Given the description of an element on the screen output the (x, y) to click on. 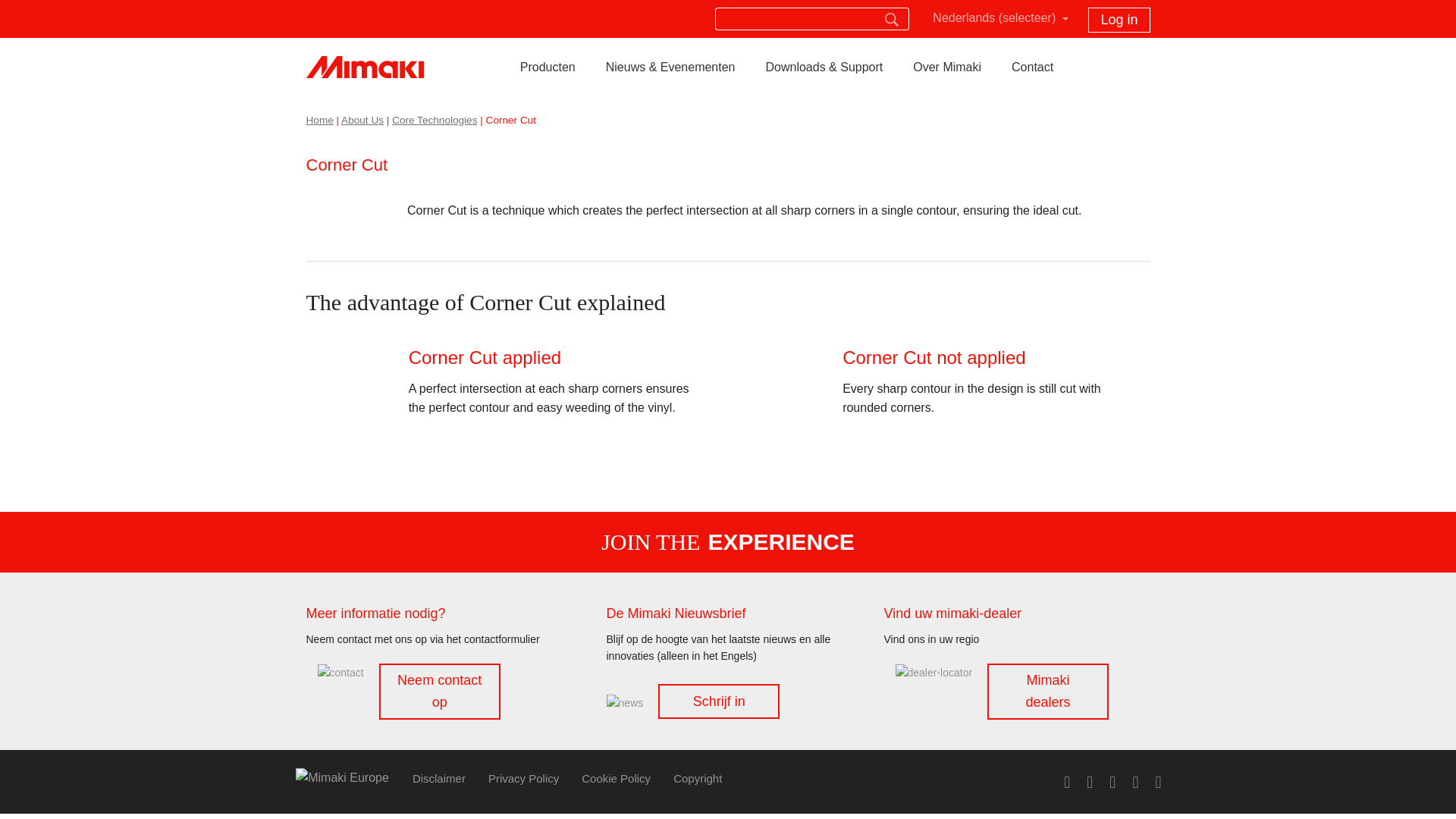
Mimaki Europe (346, 777)
Search (891, 19)
Log in (1118, 19)
Mimaki Europe (364, 57)
Producten (548, 67)
